Given the description of an element on the screen output the (x, y) to click on. 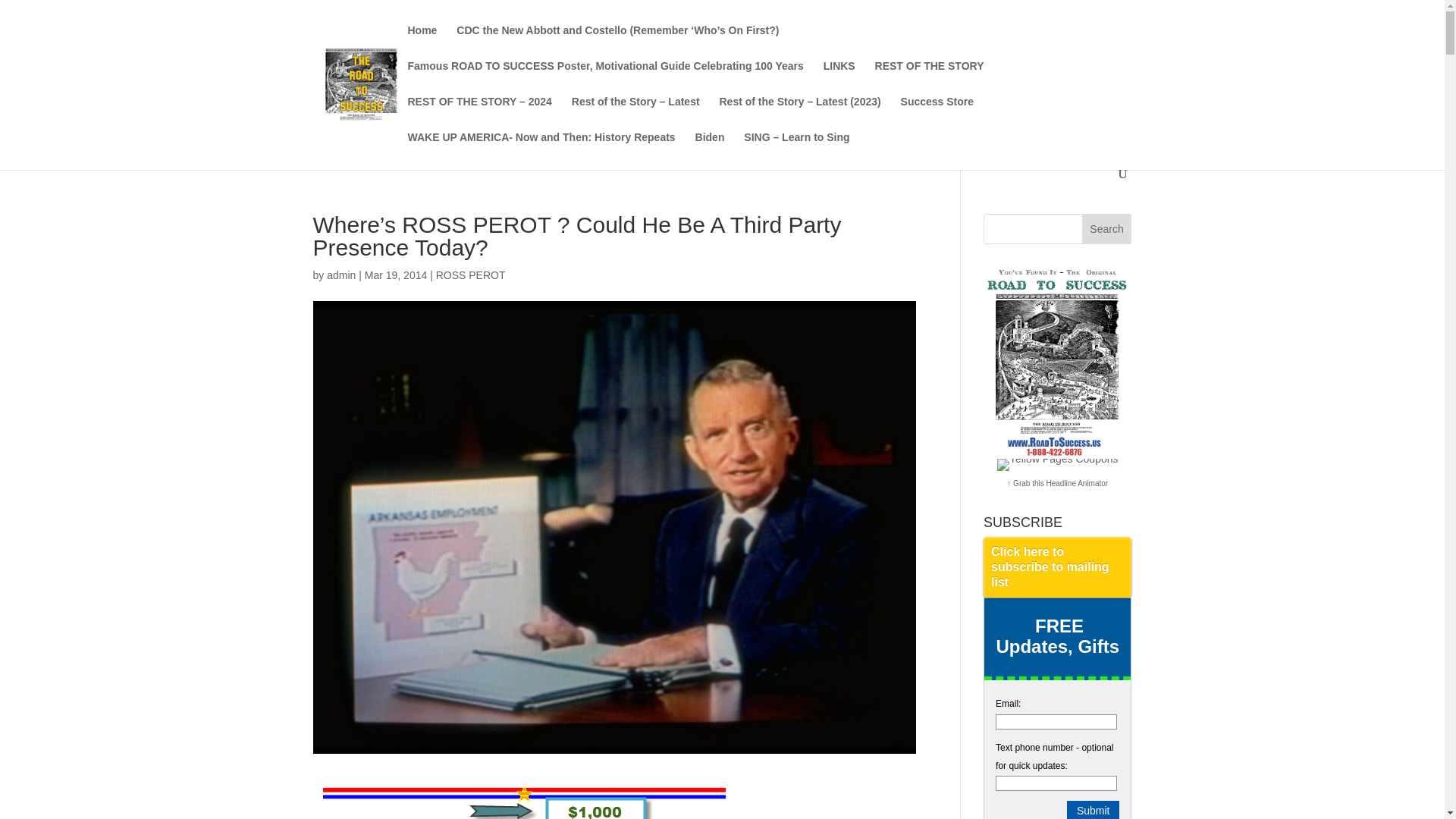
ROSS PEROT (470, 275)
Submit (1093, 809)
Success Store (937, 113)
Home (422, 42)
Search (1106, 228)
WAKE UP AMERICA- Now and Then: History Repeats (541, 149)
LINKS (840, 78)
Biden (710, 149)
Posts by admin (340, 275)
Search (1106, 228)
admin (340, 275)
Click here to subscribe to mailing list (1057, 567)
REST OF THE STORY (929, 78)
Submit (1093, 809)
